Given the description of an element on the screen output the (x, y) to click on. 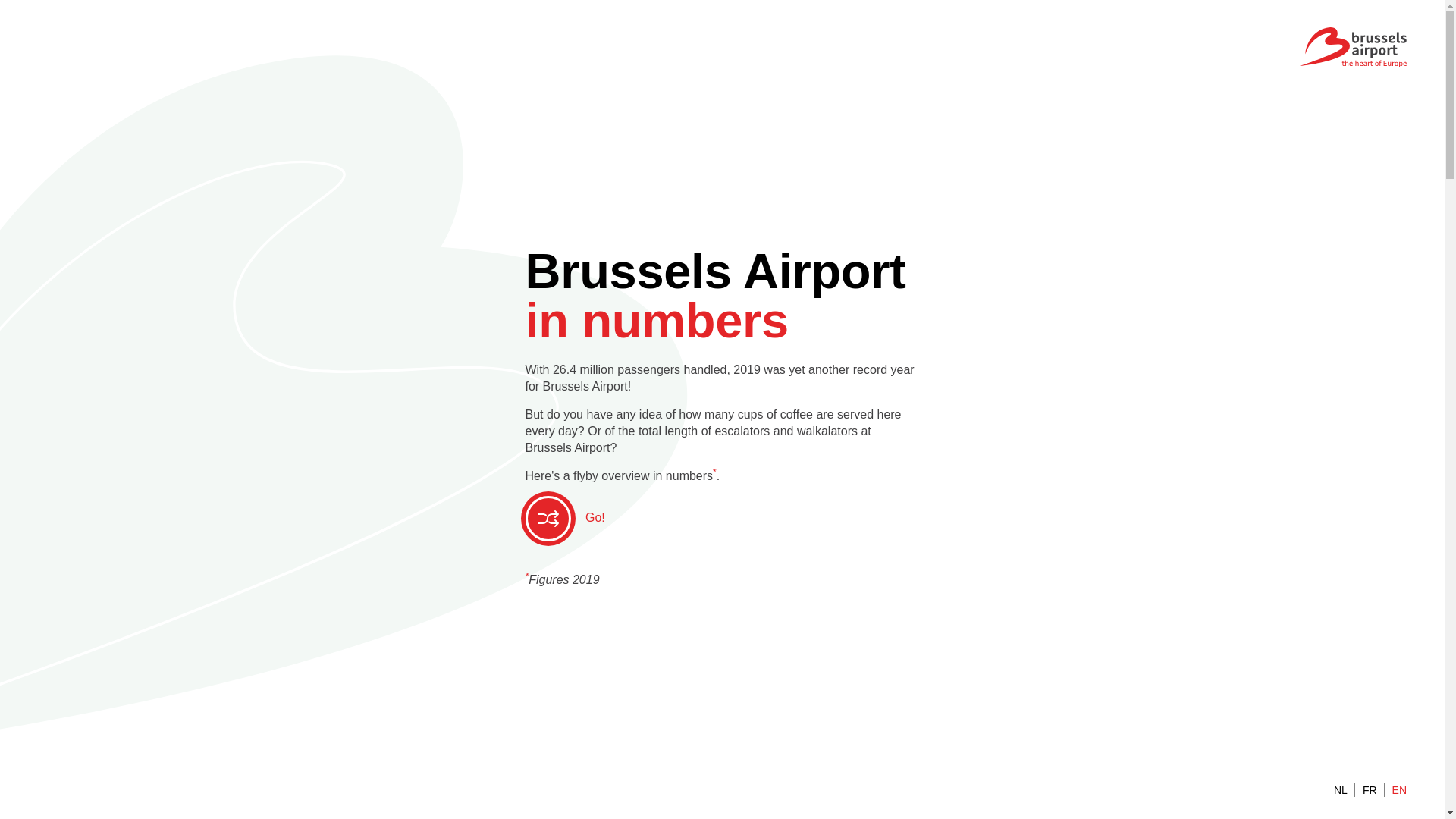
NL Element type: text (1340, 789)
FR Element type: text (1369, 789)
EN Element type: text (1399, 789)
Go! Element type: text (564, 518)
